Given the description of an element on the screen output the (x, y) to click on. 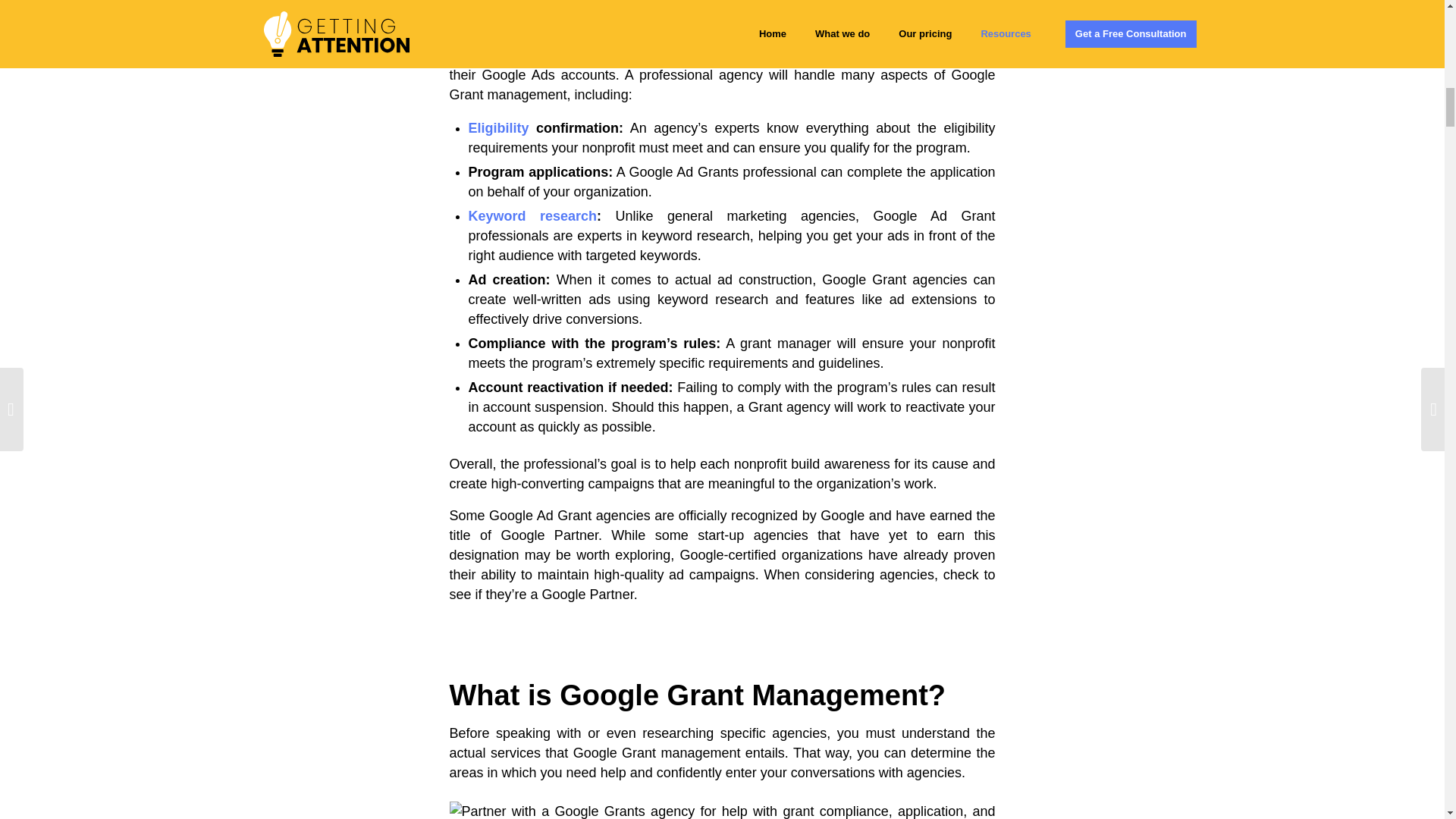
Eligibility (498, 127)
Keyword research (532, 215)
